Given the description of an element on the screen output the (x, y) to click on. 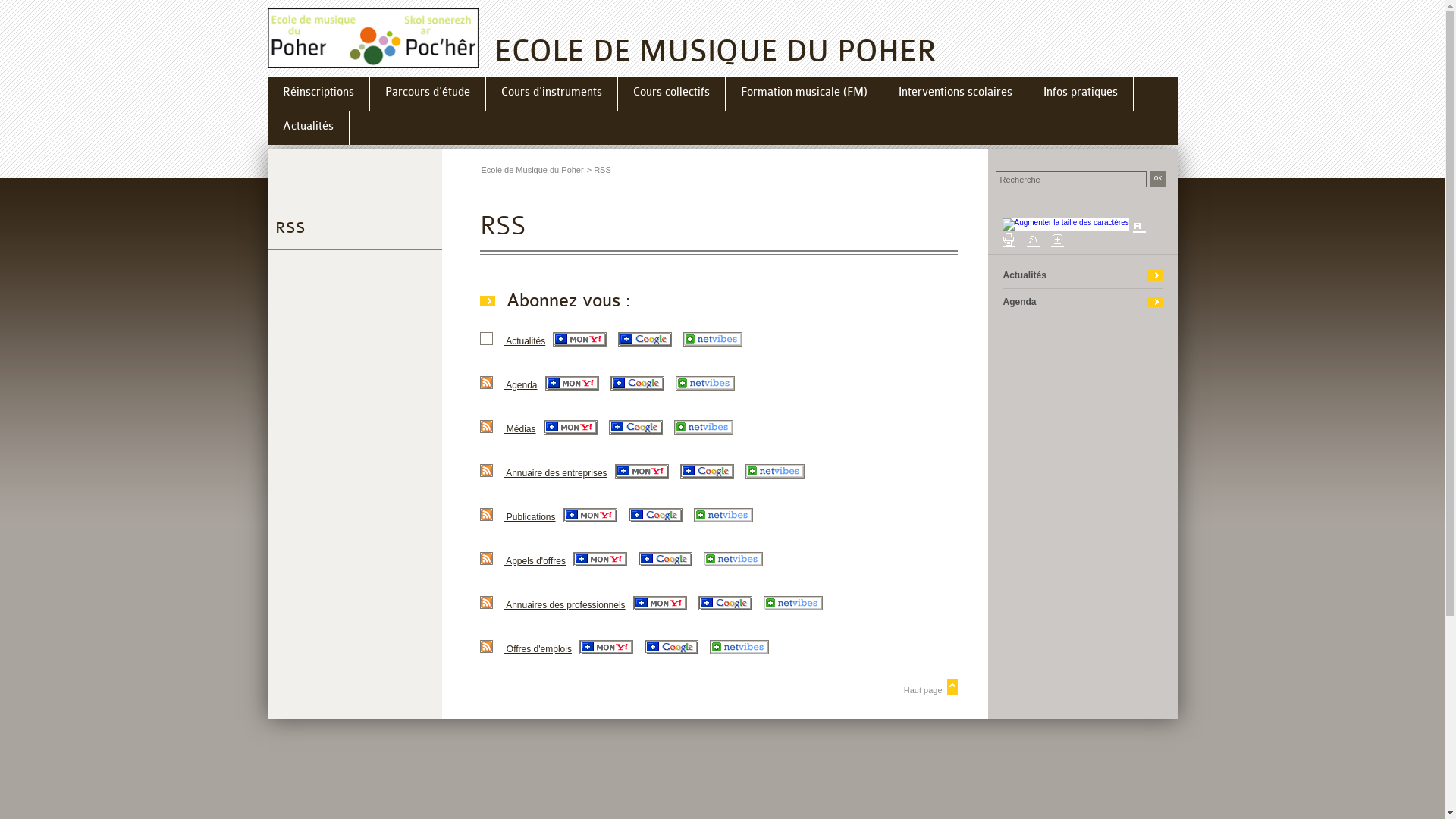
 Annuaire des entreprises Element type: text (554, 472)
Infos pratiques Element type: text (1080, 95)
Interventions scolaires Element type: text (954, 95)
Partager cette information Element type: hover (1057, 238)
Cours collectifs Element type: text (670, 95)
Recherche Element type: text (1069, 179)
Cours d'instruments Element type: text (550, 95)
ECOLE DE MUSIQUE DU POHER Element type: hover (372, 37)
 Offres d'emplois Element type: text (537, 648)
 Annuaires des professionnels Element type: text (563, 604)
 Appels d'offres Element type: text (533, 560)
Ecole de Musique du Poher Element type: text (531, 169)
ECOLE DE MUSIQUE DU POHER Element type: text (715, 51)
> RSS Element type: text (598, 169)
Recherche Element type: hover (1069, 179)
Haut page Element type: text (718, 686)
Agenda Element type: text (1018, 301)
Formation musicale (FM) Element type: text (803, 95)
RSS Element type: text (289, 227)
S'abonner au flux rss Element type: hover (1032, 238)
imprimer la page Element type: hover (1008, 238)
 Agenda Element type: text (519, 384)
ok Element type: text (1157, 179)
 Publications Element type: text (529, 516)
